Given the description of an element on the screen output the (x, y) to click on. 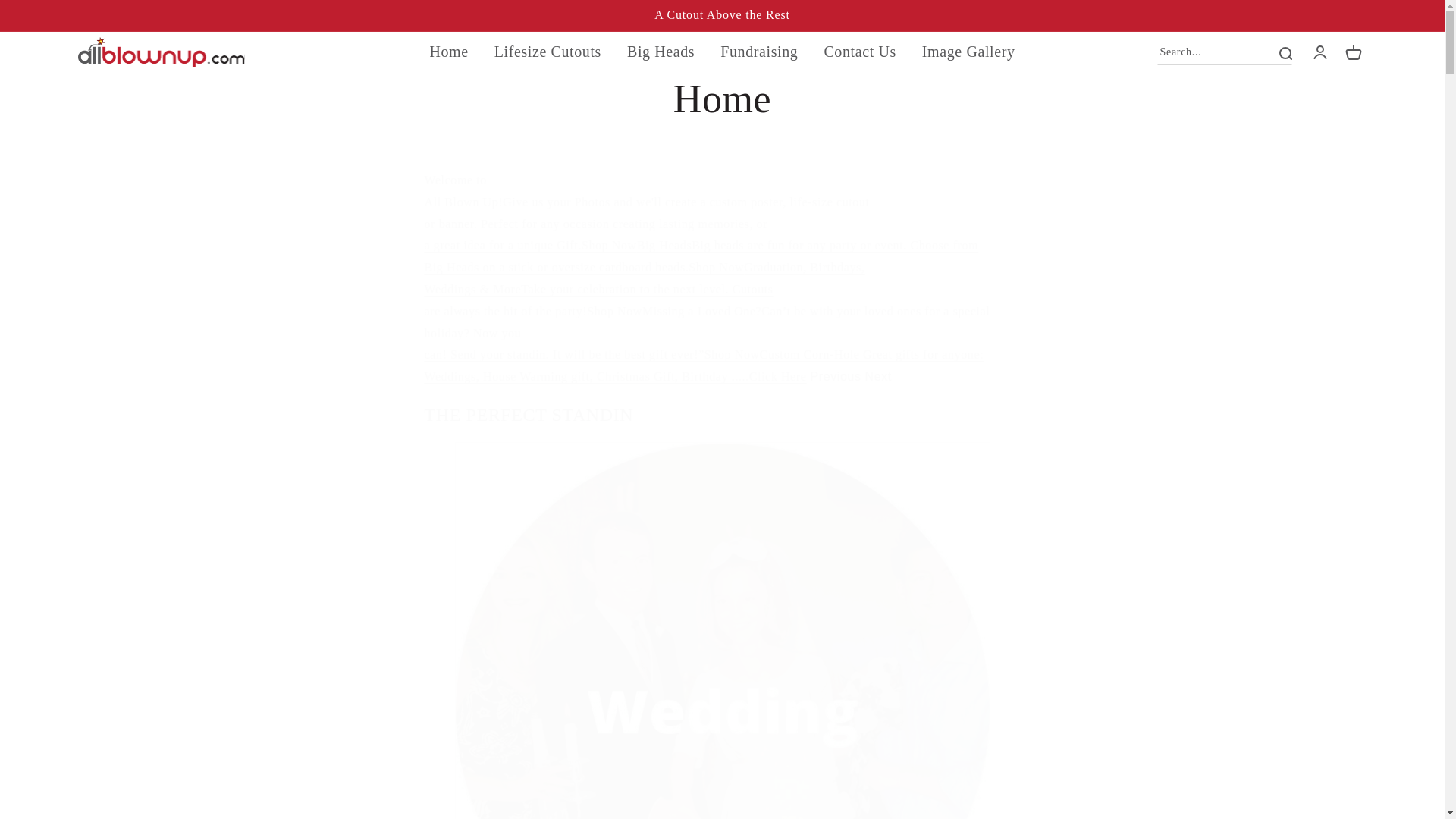
Log in (1319, 52)
Skip to content (45, 17)
Fundraising (758, 52)
Lifesize Cutouts (547, 52)
Home (722, 98)
Home (448, 52)
Cart (1353, 52)
Contact Us (858, 52)
Image Gallery (968, 52)
Big Heads (660, 52)
